Given the description of an element on the screen output the (x, y) to click on. 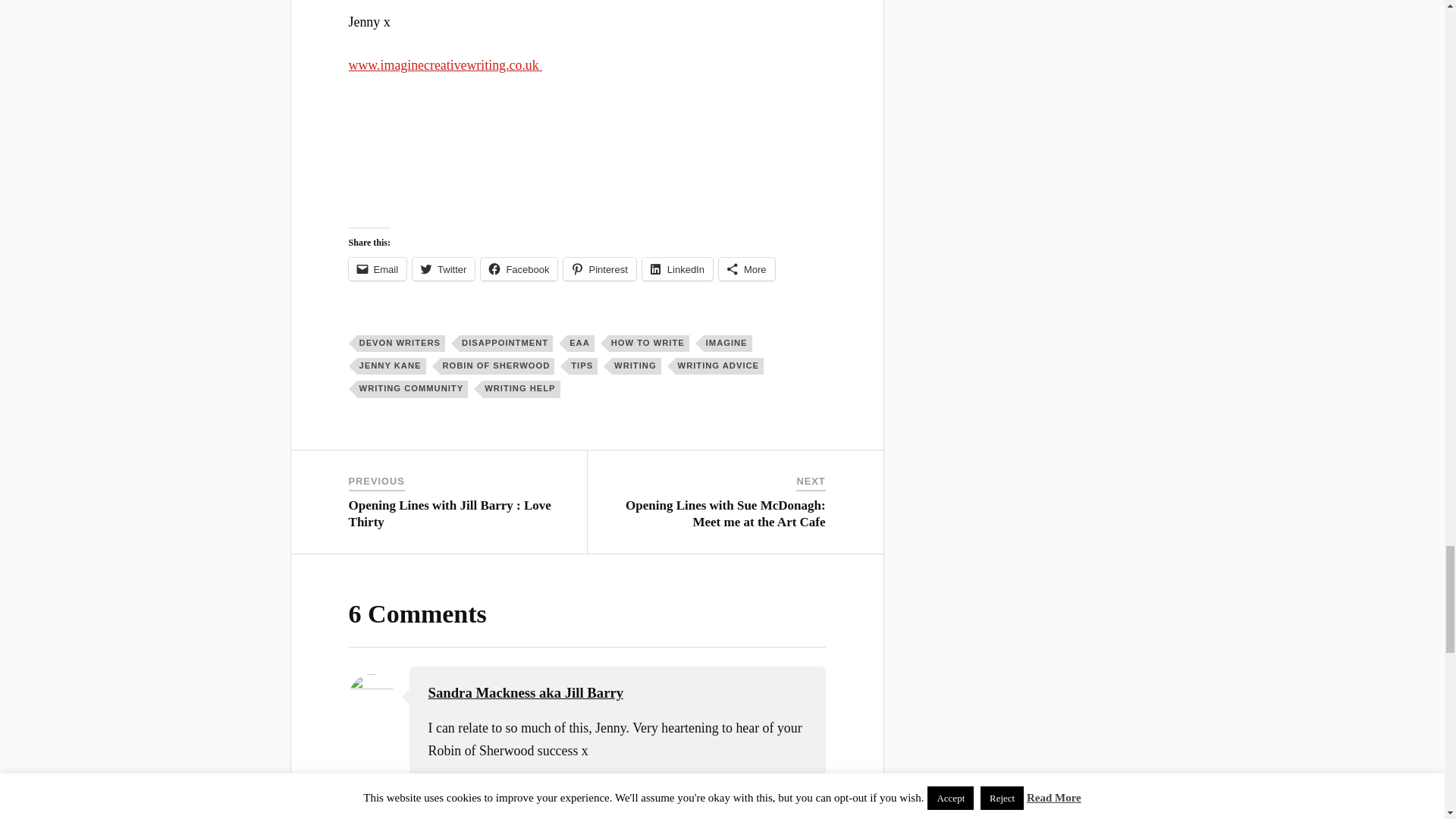
More (746, 268)
Click to email a link to a friend (378, 268)
Click to share on LinkedIn (677, 268)
Pinterest (598, 268)
Email (378, 268)
Click to share on Twitter (443, 268)
Click to share on Facebook (518, 268)
Twitter (443, 268)
Facebook (518, 268)
Click to share on Pinterest (598, 268)
